Given the description of an element on the screen output the (x, y) to click on. 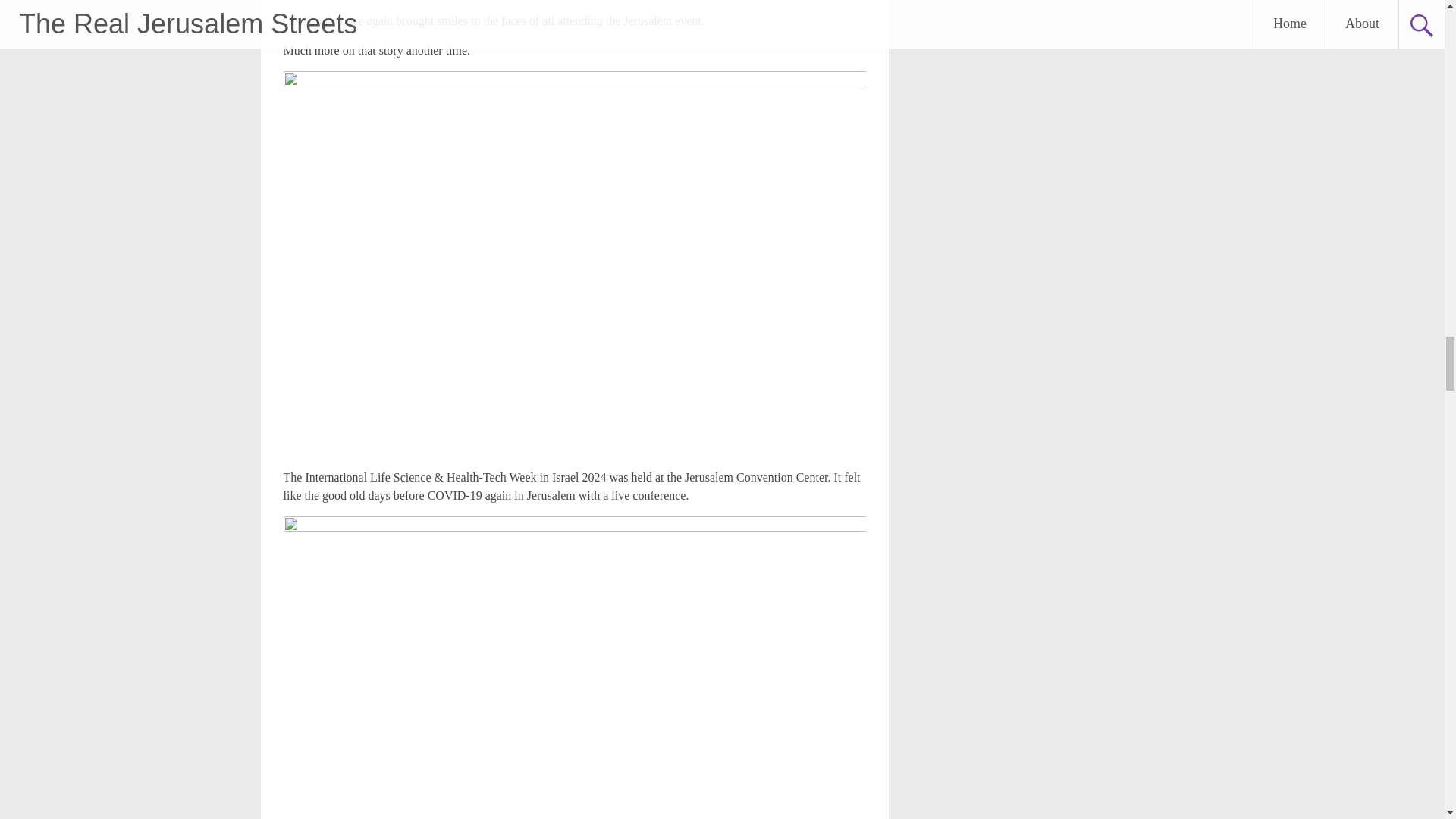
OneFamily once again (339, 20)
